Given the description of an element on the screen output the (x, y) to click on. 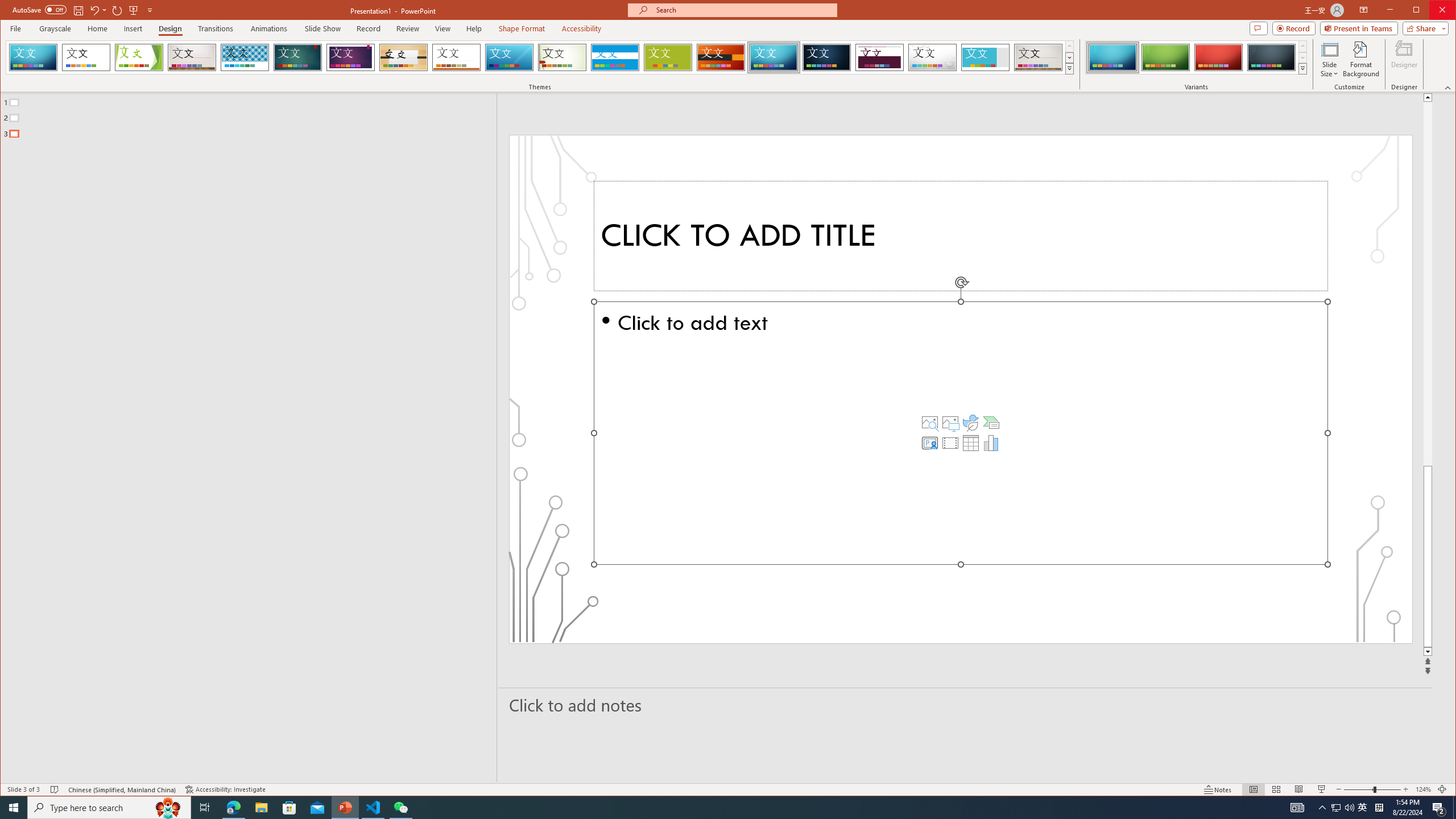
Accessibility (581, 28)
Line down (1427, 651)
Circuit Variant 3 (1218, 57)
System (10, 10)
Circuit Variant 4 (1270, 57)
Wisp (561, 57)
Slice (509, 57)
Notes  (1217, 789)
Ion (297, 57)
Undo (94, 9)
Insert Chart (991, 443)
Gallery (1037, 57)
Zoom (1371, 789)
Ion Boardroom (350, 57)
